Given the description of an element on the screen output the (x, y) to click on. 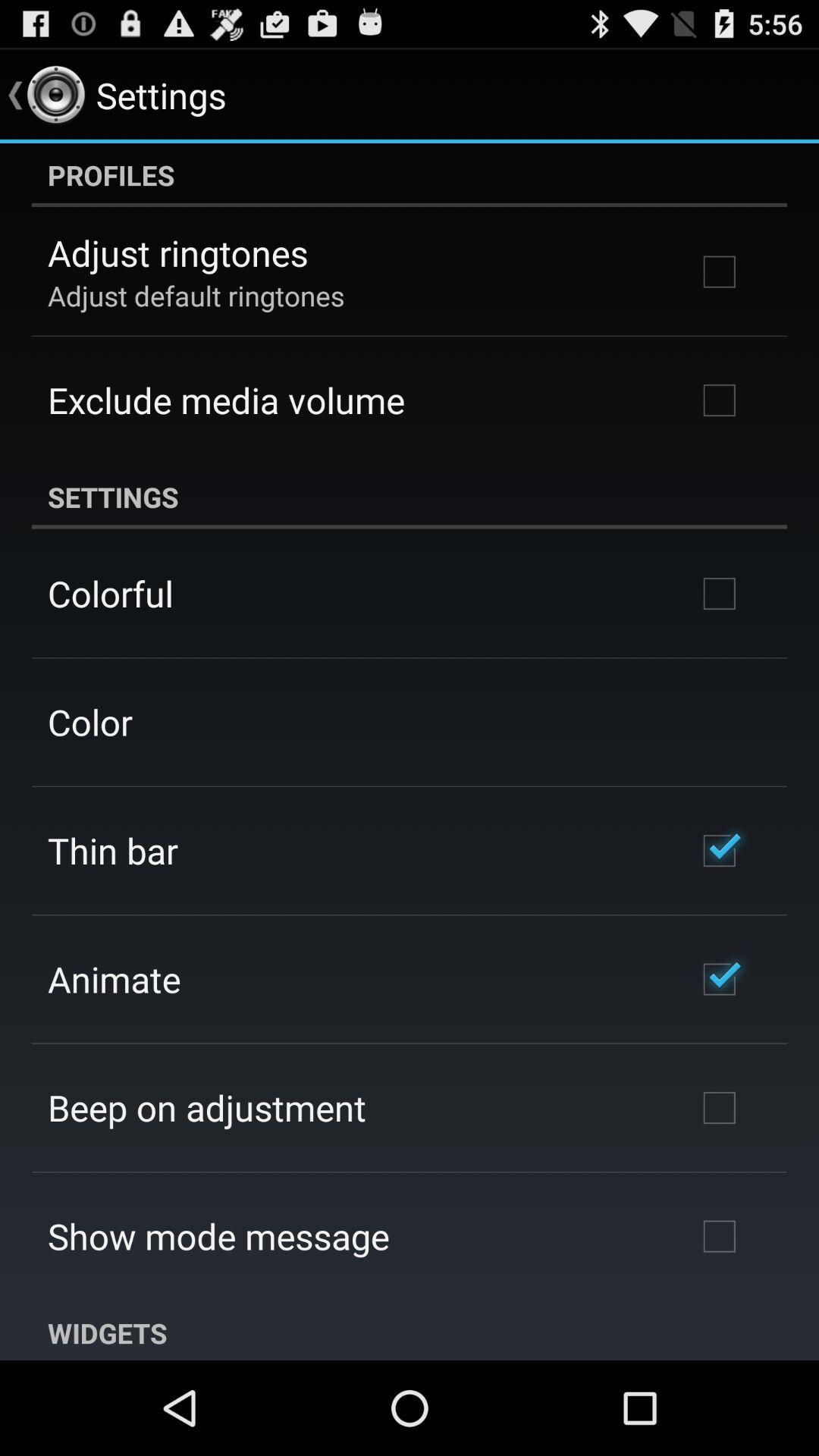
click item below thin bar app (113, 978)
